Given the description of an element on the screen output the (x, y) to click on. 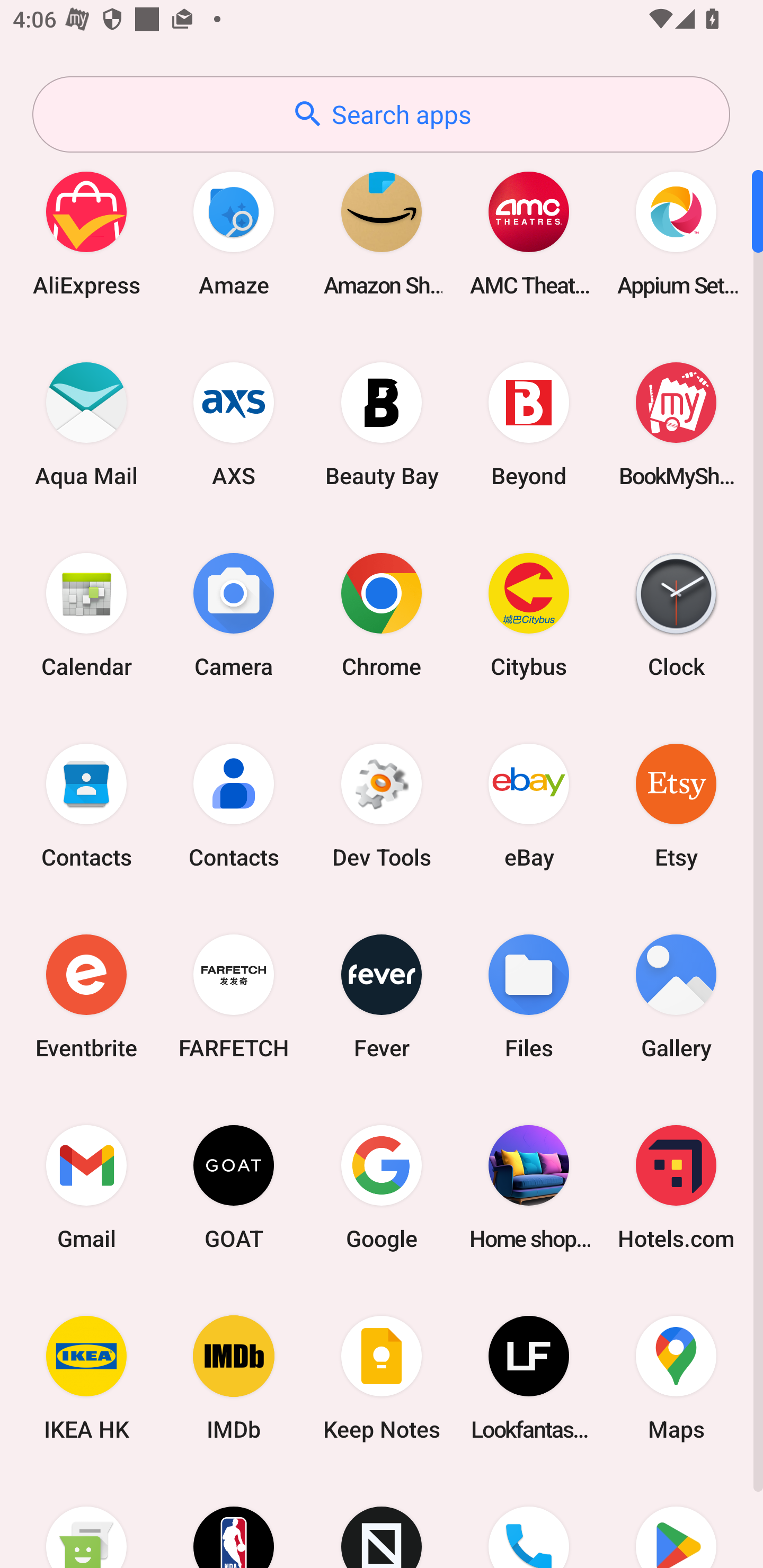
  Search apps (381, 114)
AliExpress (86, 233)
Amaze (233, 233)
Amazon Shopping (381, 233)
AMC Theatres (528, 233)
Appium Settings (676, 233)
Aqua Mail (86, 424)
AXS (233, 424)
Beauty Bay (381, 424)
Beyond (528, 424)
BookMyShow (676, 424)
Calendar (86, 614)
Camera (233, 614)
Chrome (381, 614)
Citybus (528, 614)
Clock (676, 614)
Contacts (86, 805)
Contacts (233, 805)
Dev Tools (381, 805)
eBay (528, 805)
Etsy (676, 805)
Eventbrite (86, 996)
FARFETCH (233, 996)
Fever (381, 996)
Files (528, 996)
Gallery (676, 996)
Gmail (86, 1186)
GOAT (233, 1186)
Google (381, 1186)
Home shopping (528, 1186)
Hotels.com (676, 1186)
IKEA HK (86, 1377)
IMDb (233, 1377)
Keep Notes (381, 1377)
Lookfantastic (528, 1377)
Maps (676, 1377)
